Given the description of an element on the screen output the (x, y) to click on. 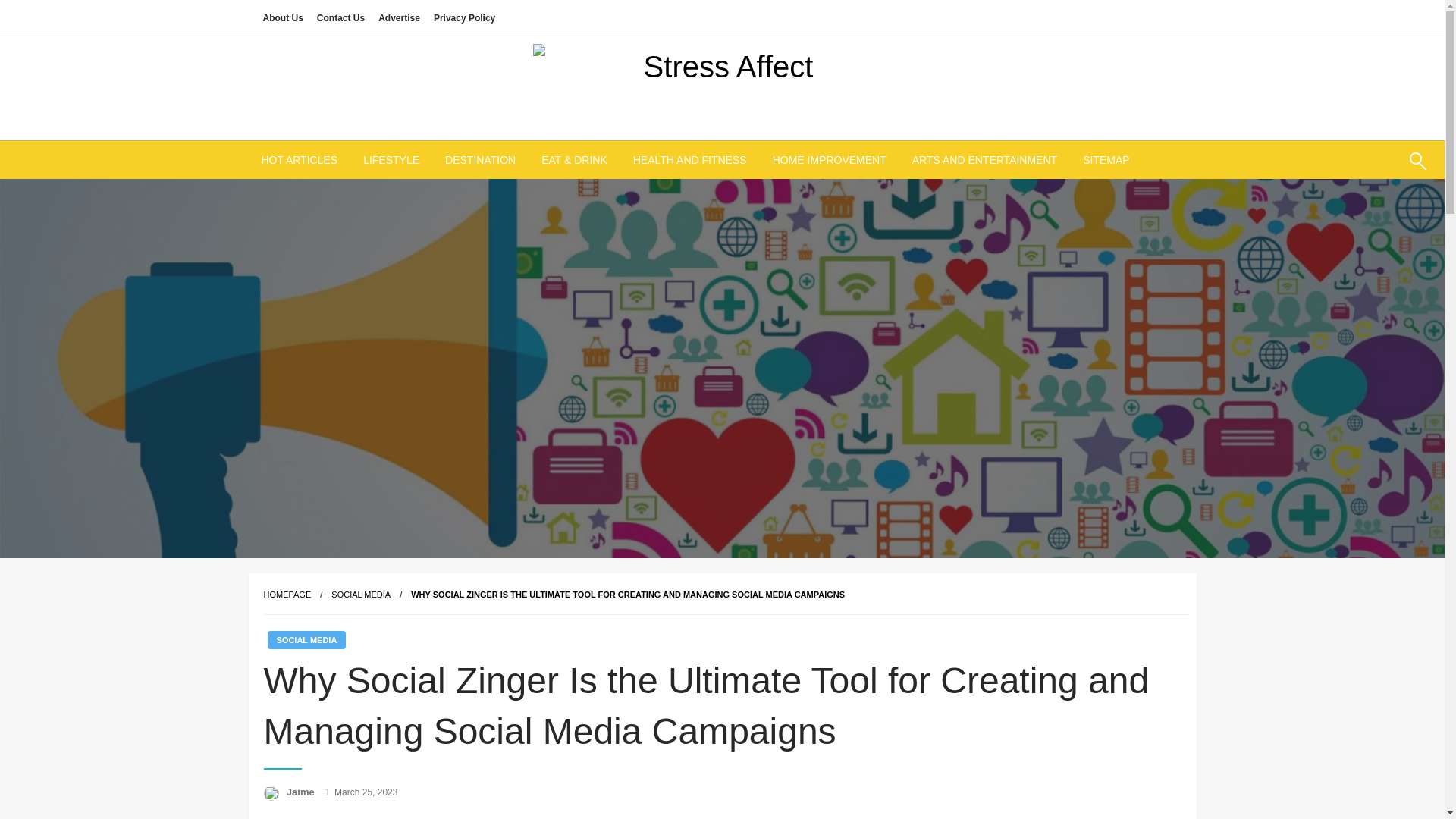
HOT ARTICLES (299, 159)
HOMEPAGE (287, 593)
Search (1381, 170)
Contact Us (340, 17)
DESTINATION (480, 159)
Social media (360, 593)
SITEMAP (1105, 159)
Jaime (301, 791)
Homepage (287, 593)
About Us (283, 17)
